Given the description of an element on the screen output the (x, y) to click on. 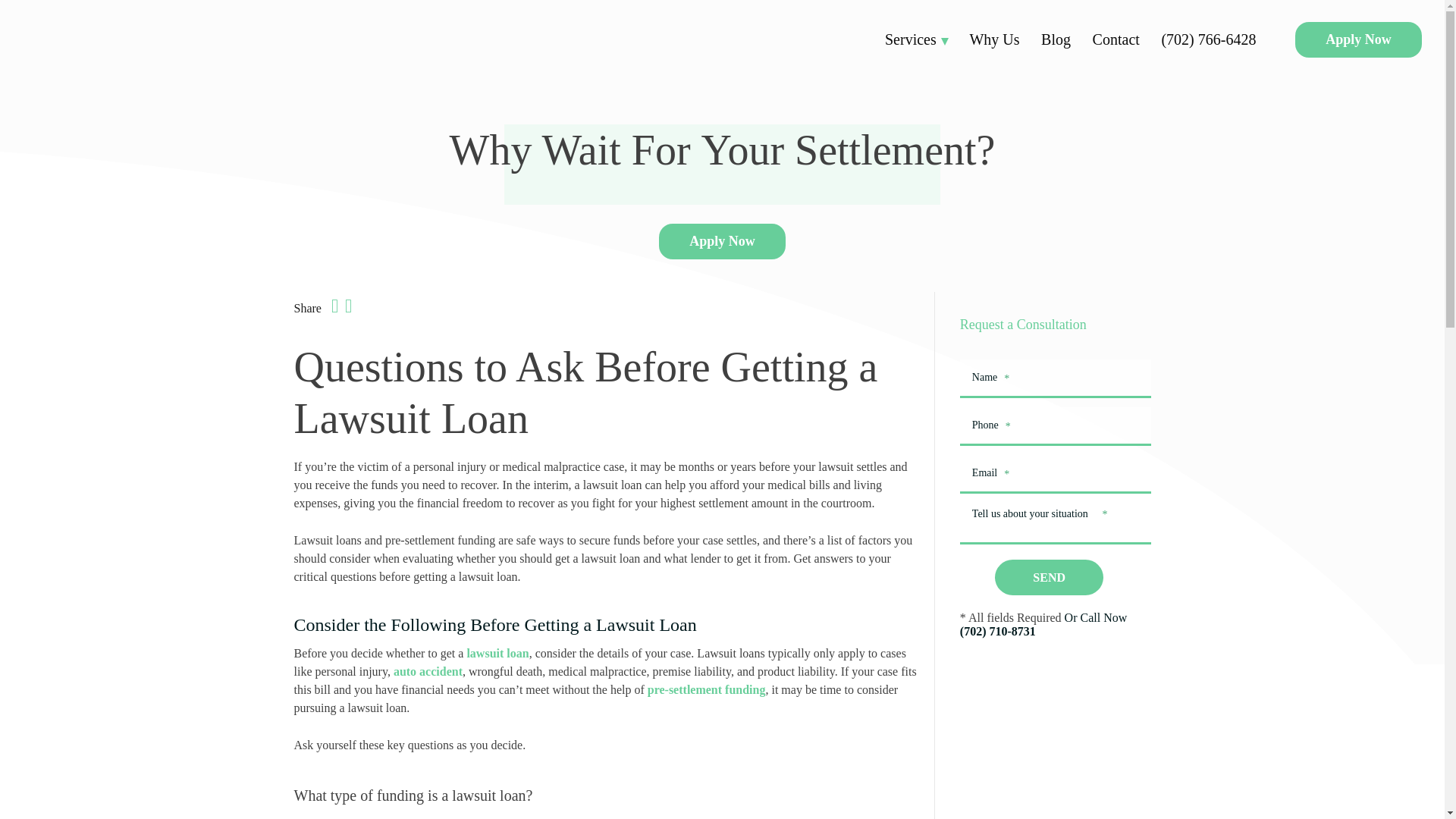
auto accident (428, 671)
Contact (1116, 39)
Send (1048, 577)
Services (916, 39)
lawsuit loan (496, 653)
Why Us (994, 39)
Apply Now (1358, 38)
Send (1048, 577)
pre-settlement funding (706, 689)
Apply Now (722, 240)
